Given the description of an element on the screen output the (x, y) to click on. 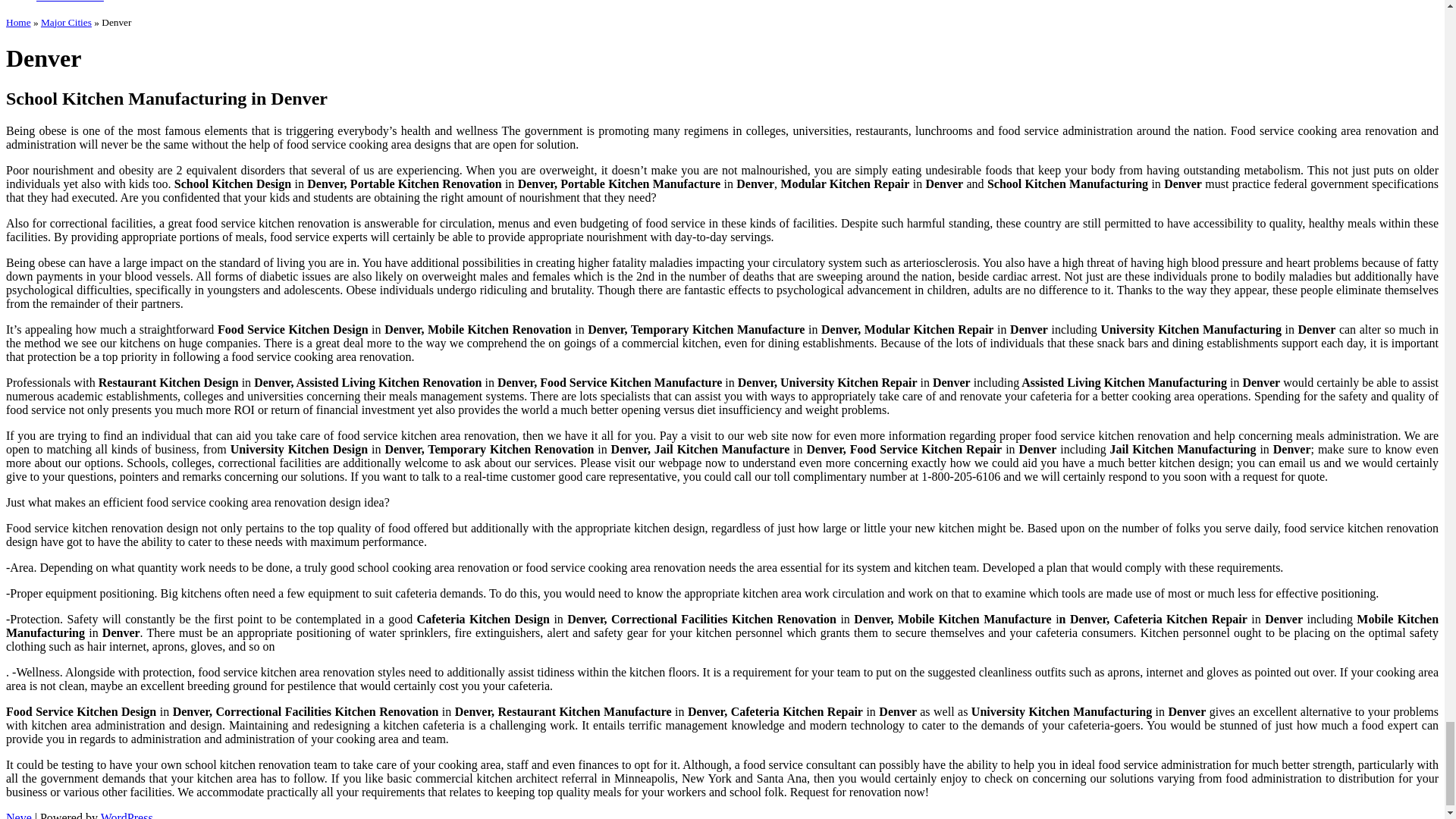
Top Cities we serve (69, 1)
